Given the description of an element on the screen output the (x, y) to click on. 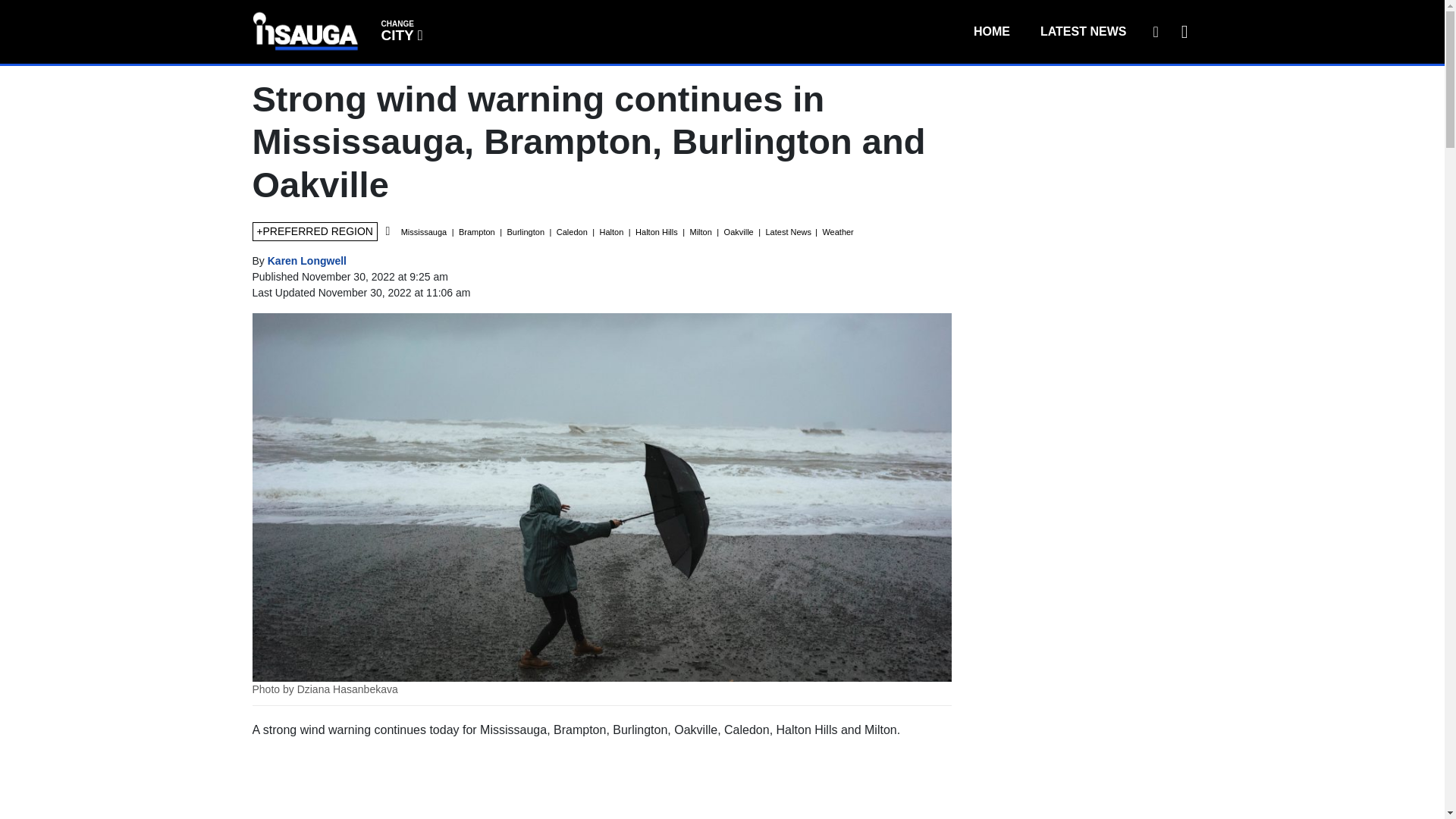
HOME (991, 31)
LATEST NEWS (400, 30)
SIGN UP FOR OUR NEWSLETTER (1083, 31)
Posts by 959 (1155, 31)
